Given the description of an element on the screen output the (x, y) to click on. 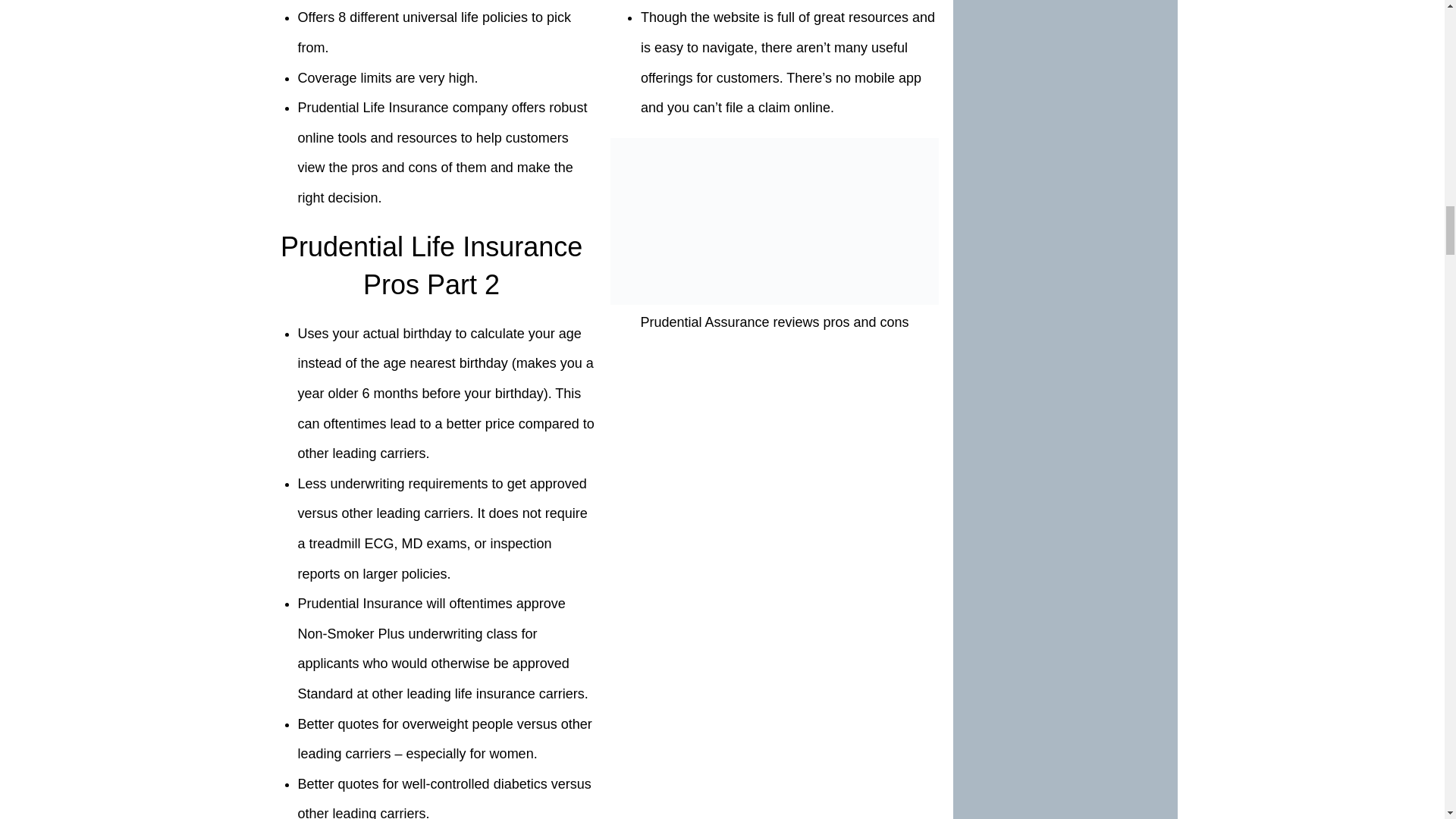
prudential assurance reviews pros and cons (774, 221)
